Given the description of an element on the screen output the (x, y) to click on. 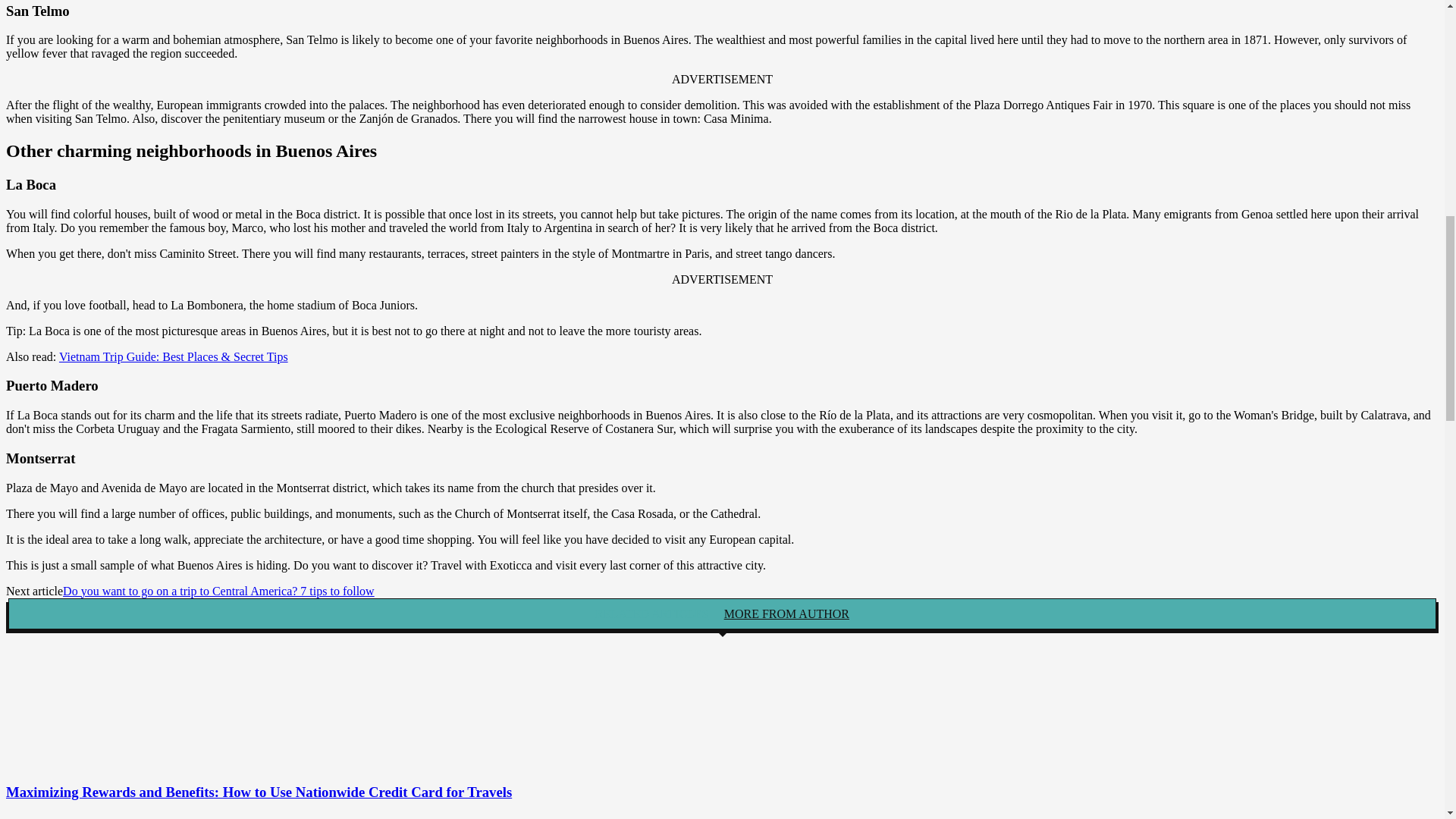
Get Exclusive Hotel Deals With Discount Apps: See the Top 5 (88, 816)
RELATED ARTICLES (652, 613)
MORE FROM AUTHOR (785, 613)
